Given the description of an element on the screen output the (x, y) to click on. 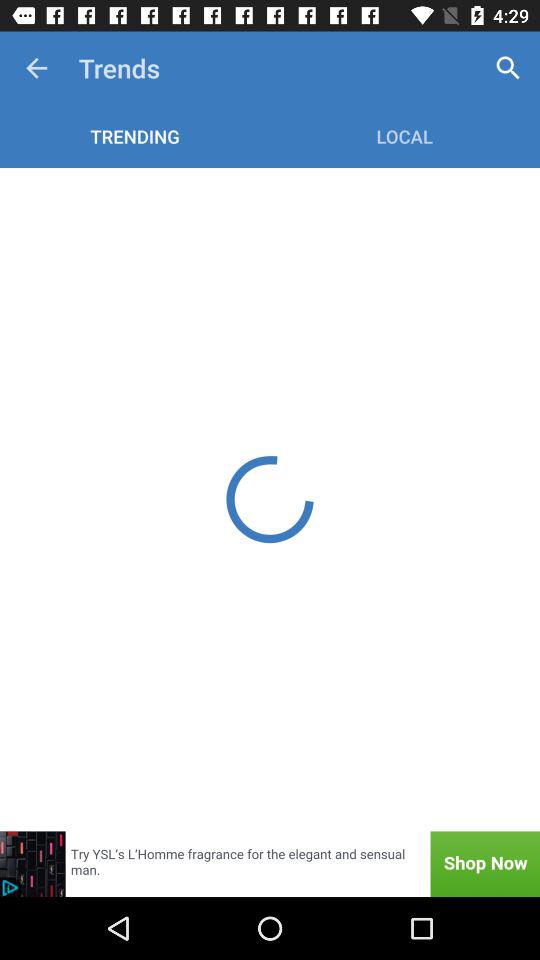
shop ysl fragance (270, 864)
